Given the description of an element on the screen output the (x, y) to click on. 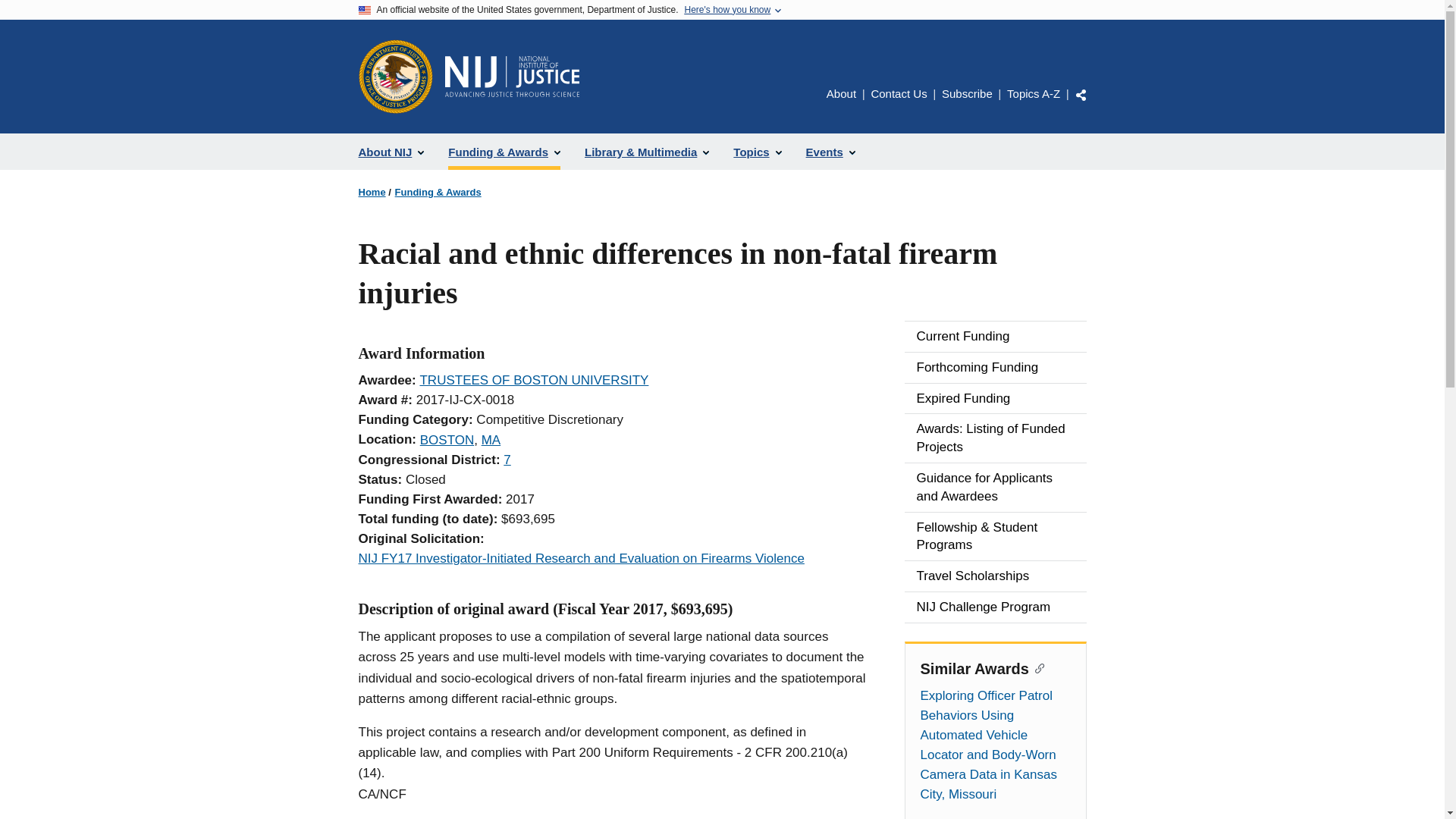
Contact Us (898, 93)
Expired Funding (995, 399)
Copy link to section: Similar Awards (1037, 667)
Office of Justice Programs (395, 76)
Topics A-Z (1033, 93)
Current Funding (995, 336)
Topics (756, 151)
About NIJ (390, 151)
Choose a social sharing platform (1080, 94)
Forthcoming Funding (995, 367)
Home (371, 192)
Guidance for Applicants and Awardees (995, 487)
